Given the description of an element on the screen output the (x, y) to click on. 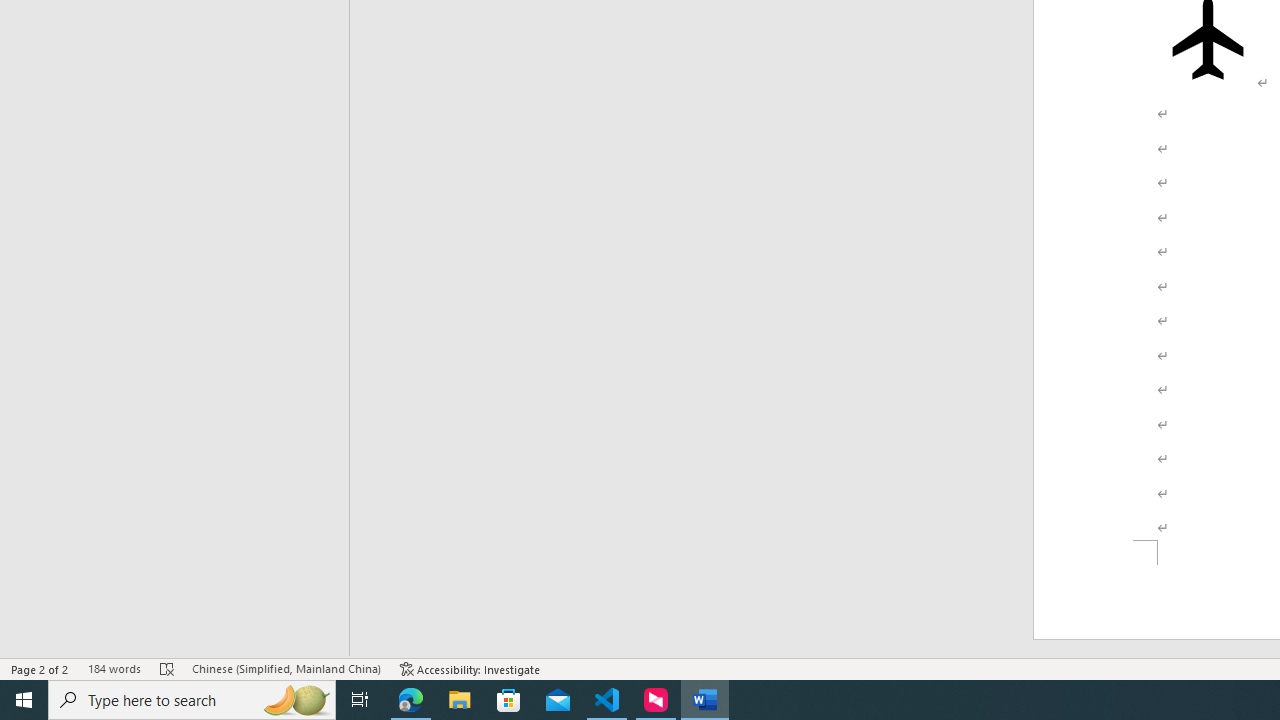
Accessibility Checker Accessibility: Investigate (470, 668)
Word Count 184 words (113, 668)
Spelling and Grammar Check Errors (168, 668)
Language Chinese (Simplified, Mainland China) (286, 668)
Page Number Page 2 of 2 (39, 668)
